Given the description of an element on the screen output the (x, y) to click on. 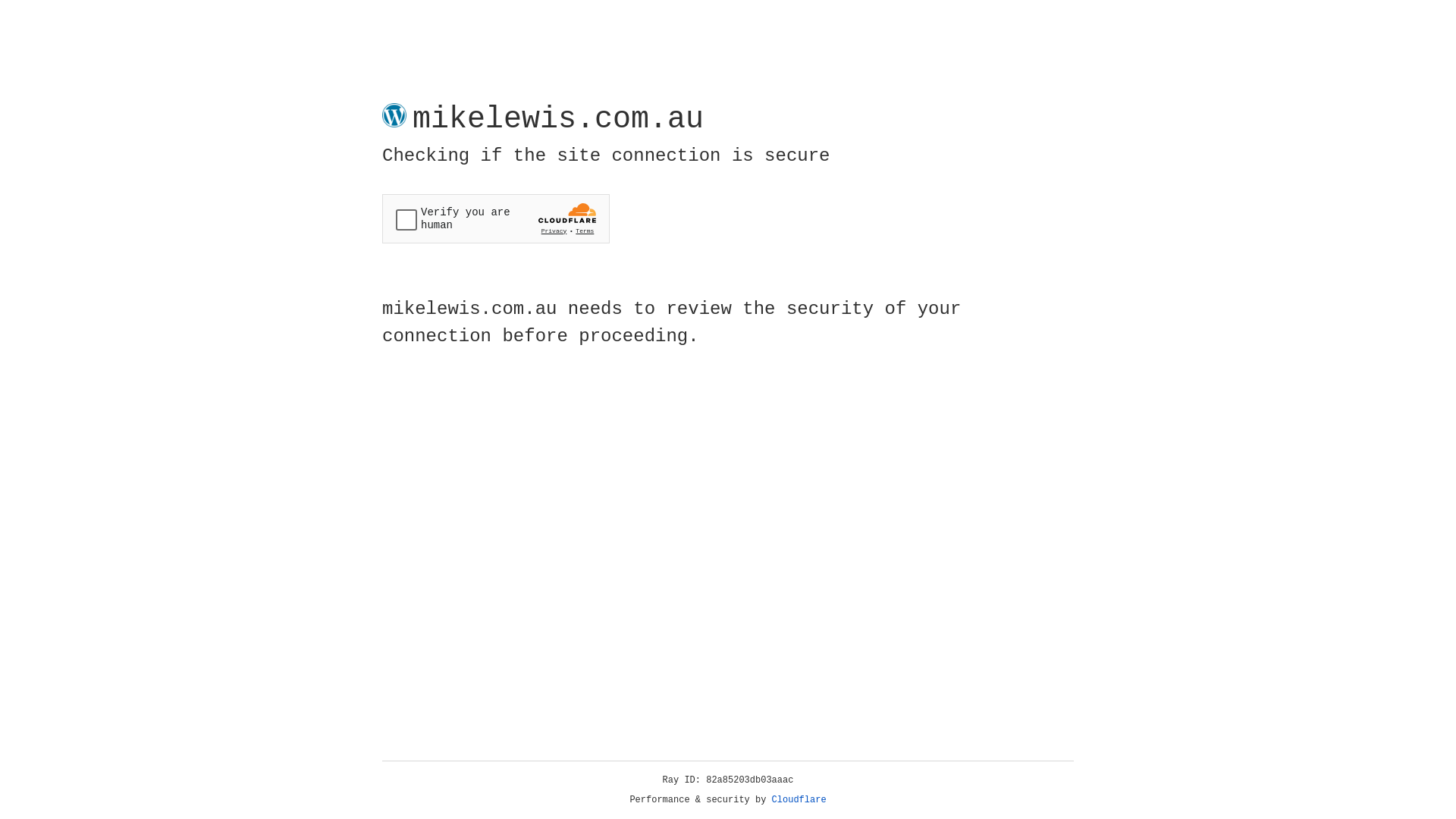
Widget containing a Cloudflare security challenge Element type: hover (495, 218)
Cloudflare Element type: text (798, 799)
